Given the description of an element on the screen output the (x, y) to click on. 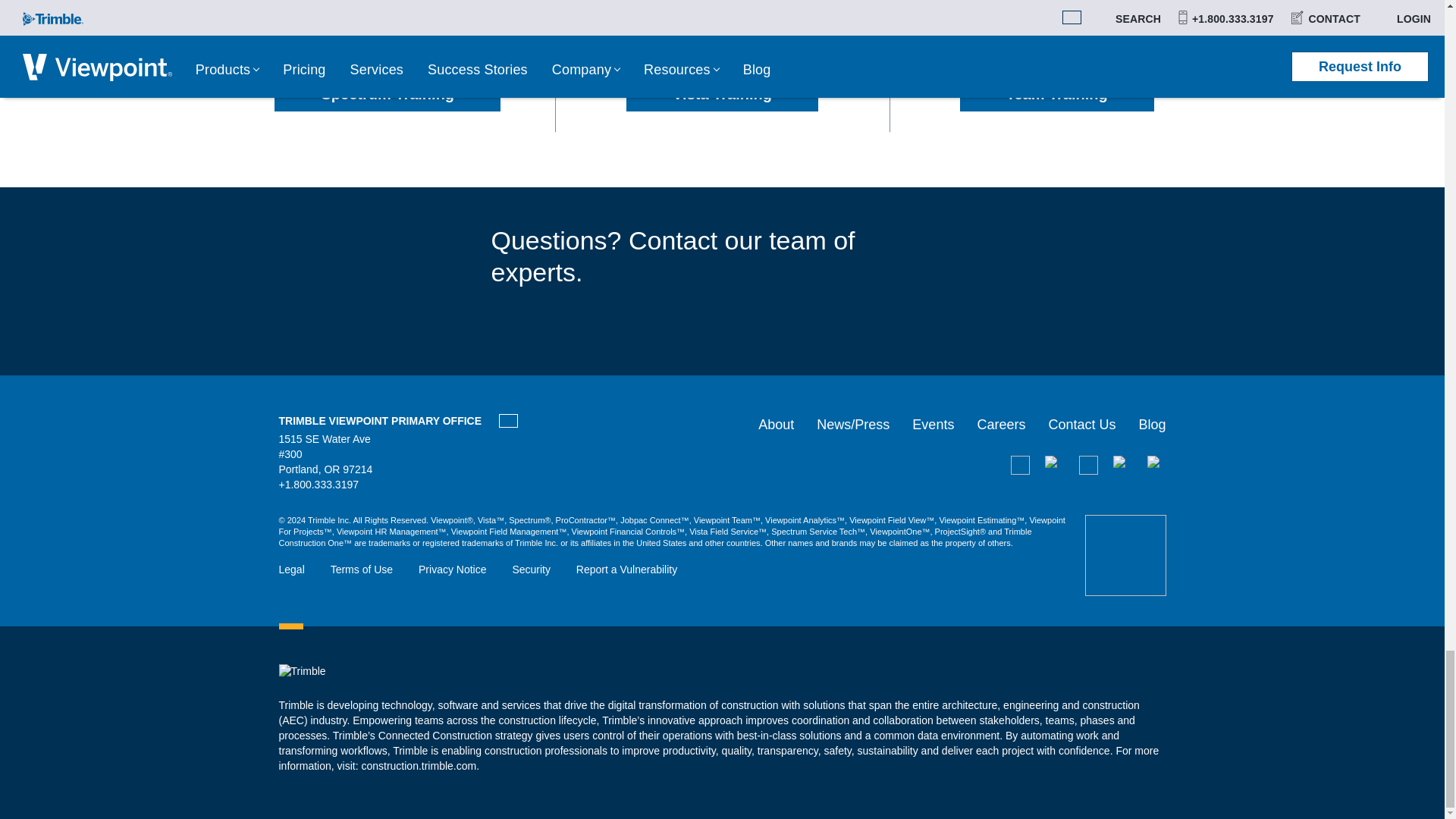
Connect with Viewpoint on LinkedIn (1087, 465)
Follow Viewpoint on Facebook (1054, 465)
Viewpoint Culture on Instagram (1122, 465)
Follow Viewpoint on Twitter (1156, 465)
